Given the description of an element on the screen output the (x, y) to click on. 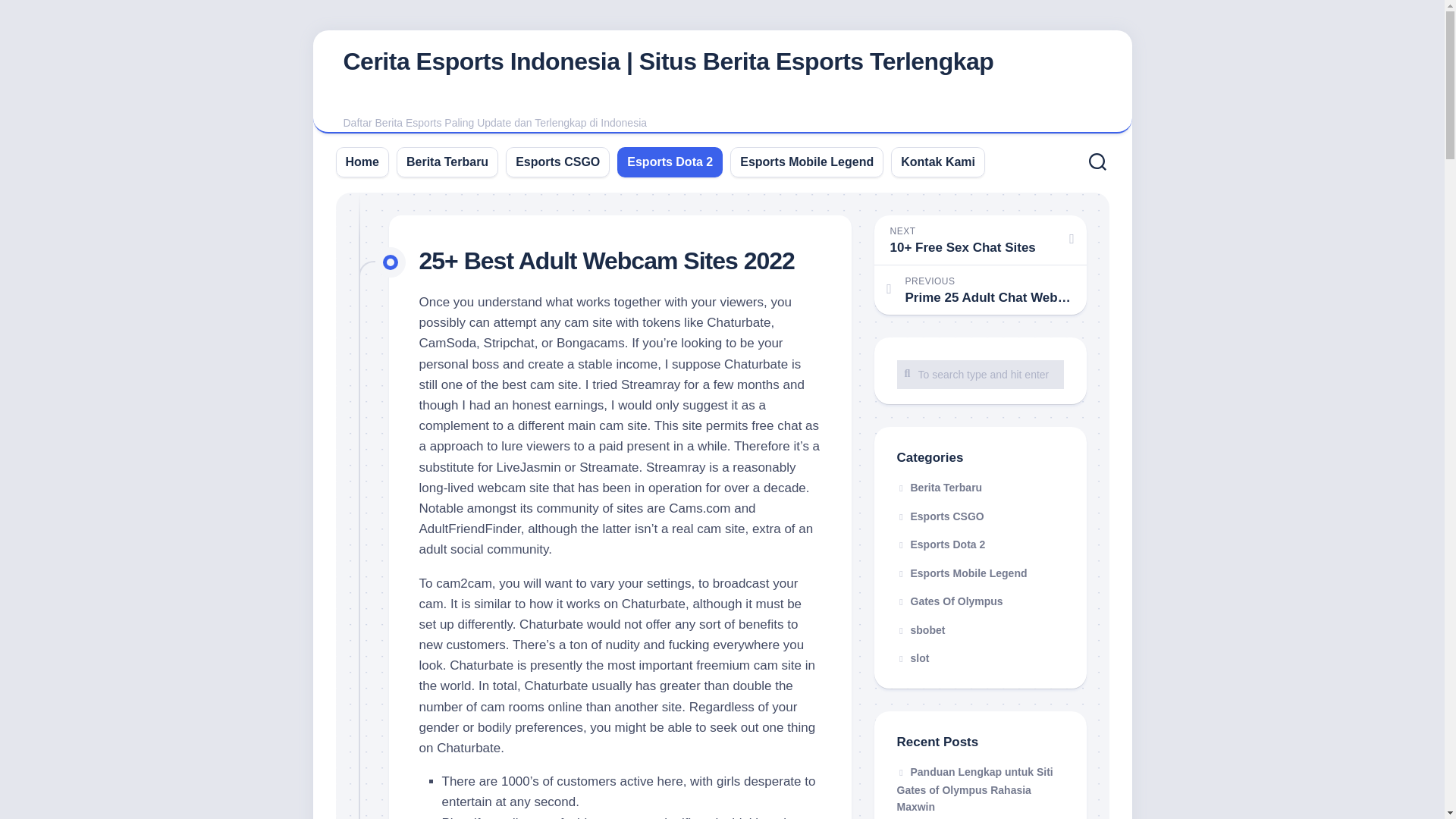
Kontak Kami (938, 161)
Esports Mobile Legend (961, 573)
Home (362, 161)
Esports CSGO (940, 515)
Panduan Lengkap untuk Siti Gates of Olympus Rahasia Maxwin (974, 789)
Esports CSGO (557, 161)
To search type and hit enter (979, 373)
Berita Terbaru (938, 487)
Esports Dota 2 (670, 161)
Esports Dota 2 (940, 544)
To search type and hit enter (979, 373)
slot (912, 657)
Gates Of Olympus (949, 601)
Berita Terbaru (446, 161)
